Given the description of an element on the screen output the (x, y) to click on. 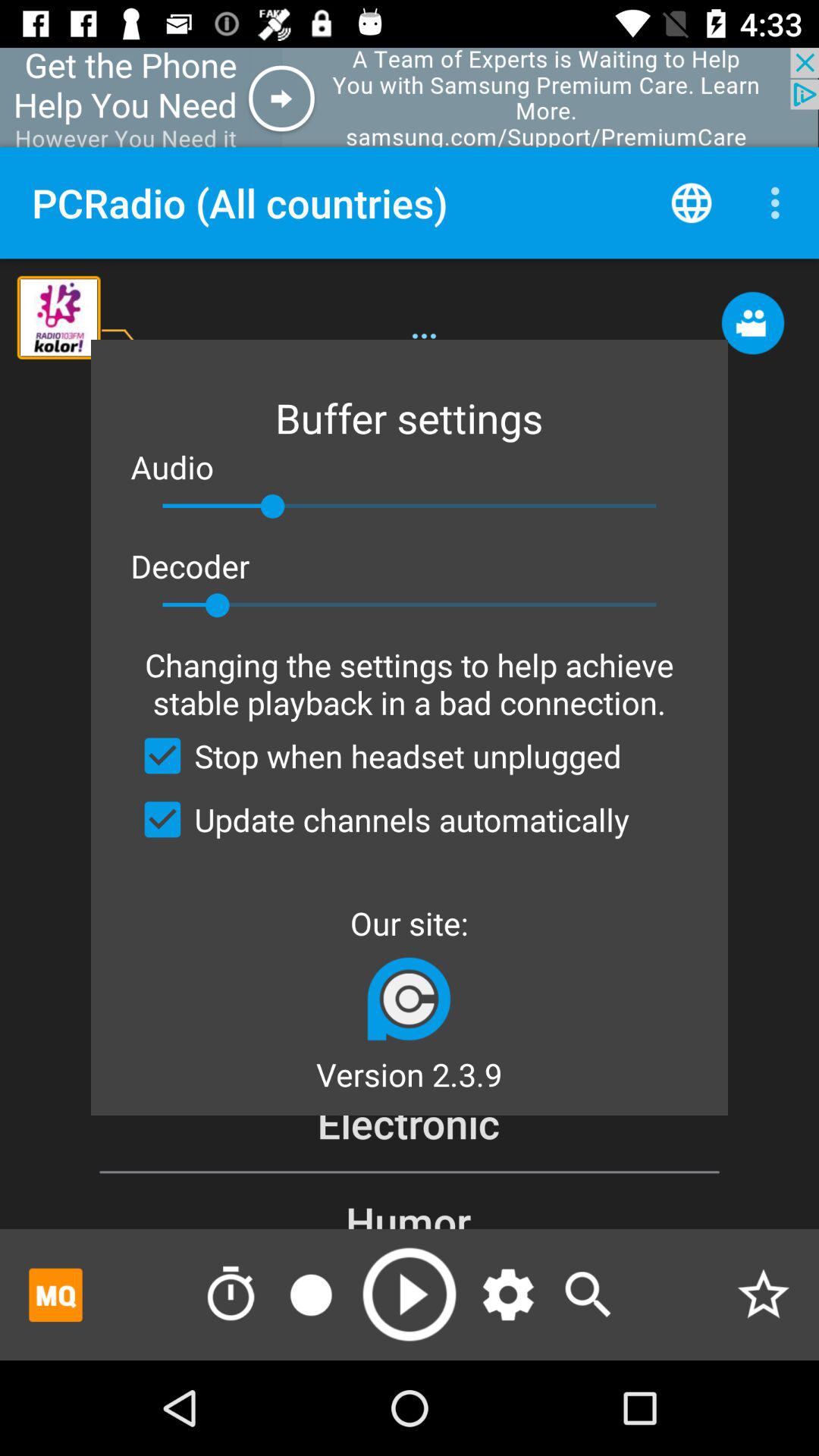
tap the item above the version 2 3 item (408, 998)
